Given the description of an element on the screen output the (x, y) to click on. 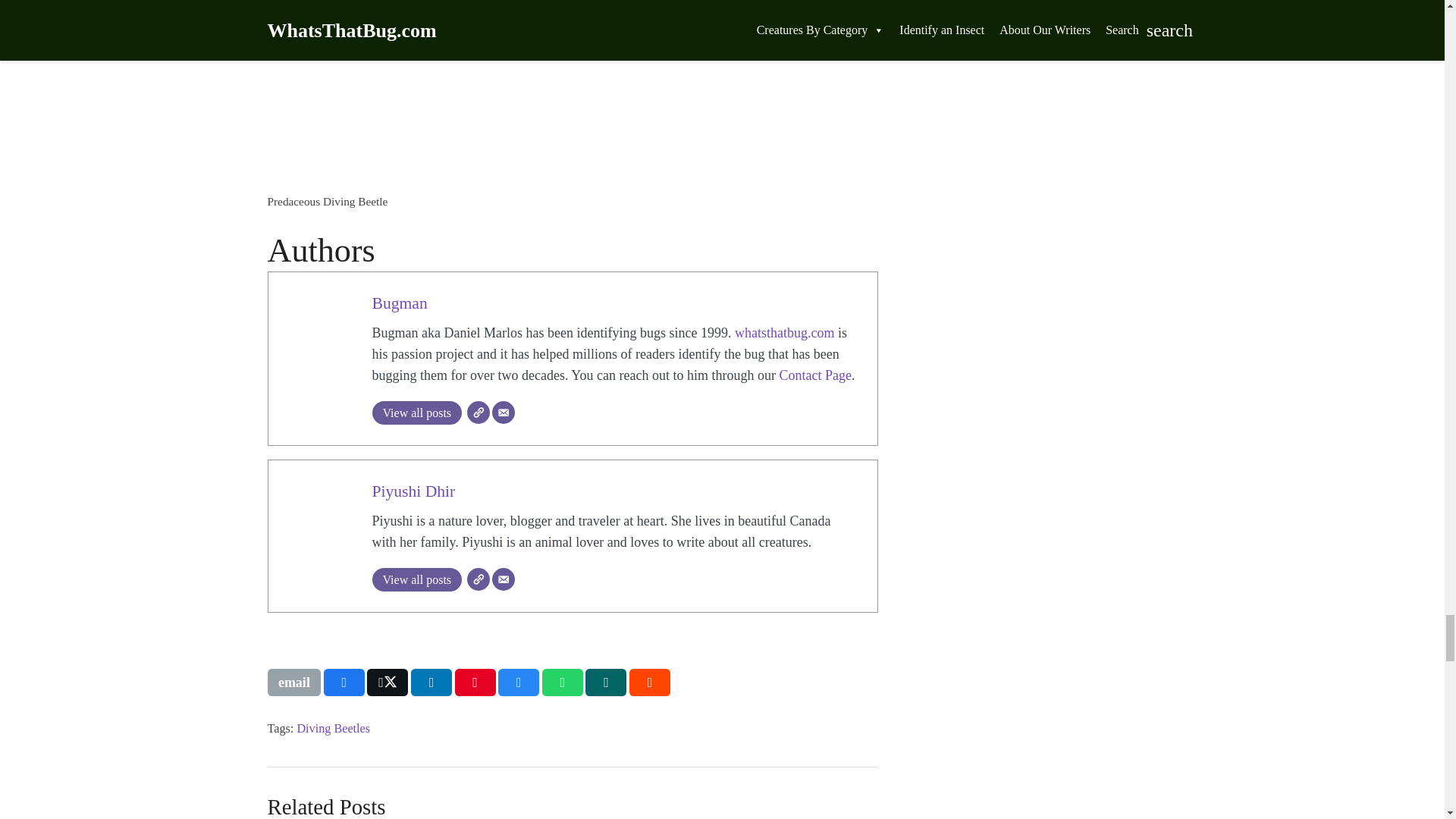
Share this (430, 682)
Share this (344, 682)
Piyushi Dhir (412, 491)
Email this (293, 682)
Bugman (398, 303)
View all posts (416, 579)
View all posts (416, 413)
Tweet this (386, 682)
